Given the description of an element on the screen output the (x, y) to click on. 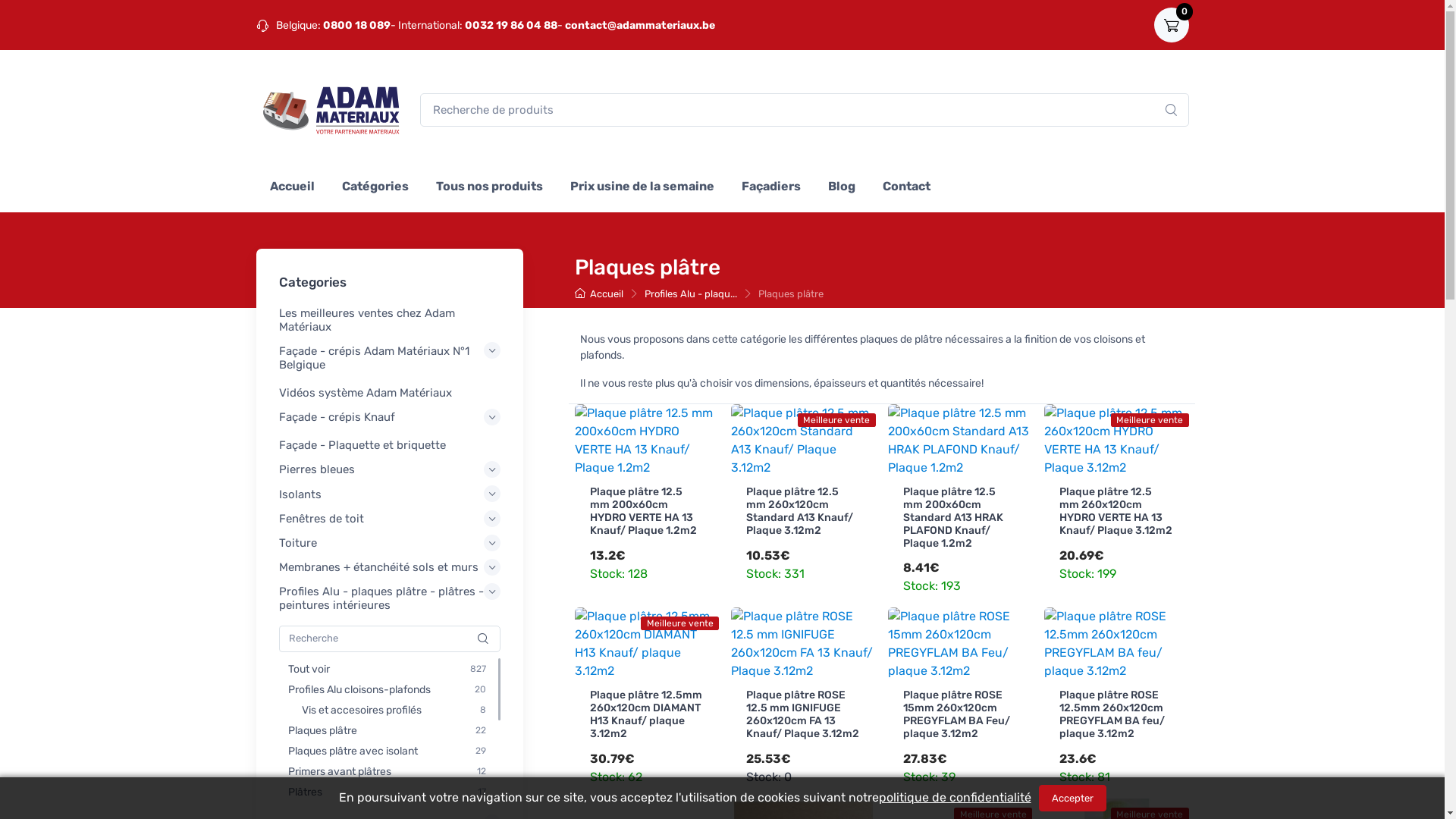
contact@adammateriaux.be Element type: text (639, 24)
Accepter Element type: text (1072, 797)
0800 18 089 Element type: text (356, 24)
Pierres bleues Element type: text (389, 470)
Prix usine de la semaine Element type: text (642, 184)
Tous nos produits Element type: text (488, 184)
Accueil Element type: text (598, 293)
Blog Element type: text (841, 184)
0 Element type: text (1171, 24)
Profiles Alu cloisons-plafonds
20 Element type: text (387, 689)
Accueil Element type: text (292, 184)
Contact Element type: text (906, 184)
Tout voir
827 Element type: text (387, 669)
Profiles Alu - plaqu... Element type: text (690, 293)
0032 19 86 04 88 Element type: text (510, 24)
Toiture Element type: text (389, 542)
Isolants Element type: text (389, 494)
